Given the description of an element on the screen output the (x, y) to click on. 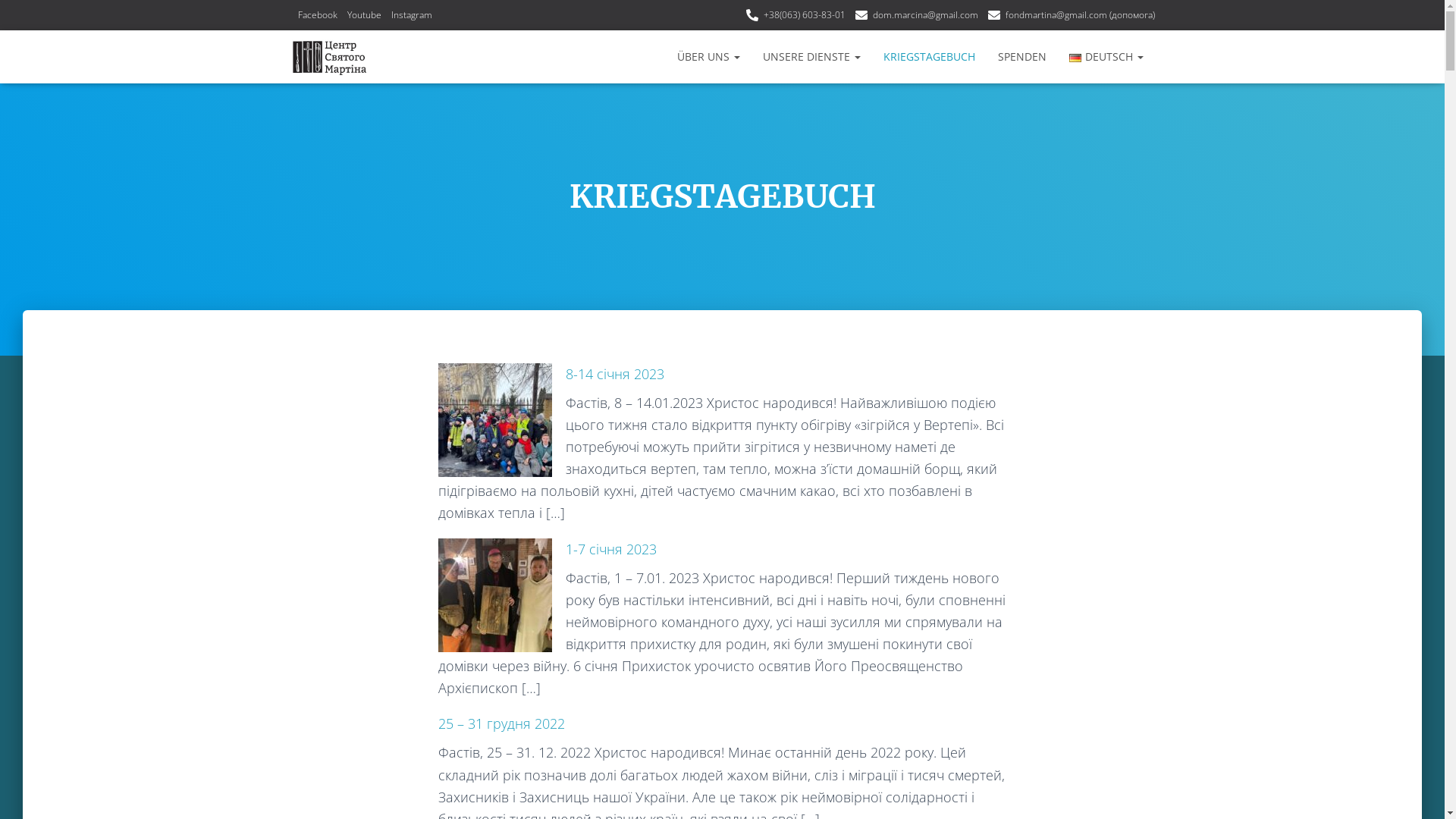
Youtube Element type: text (364, 14)
dom.marcina@gmail.com Element type: text (916, 15)
St. Martin's Zentrum in Fastiv Element type: hover (330, 56)
UNSERE DIENSTE Element type: text (811, 56)
SPENDEN Element type: text (1021, 56)
Facebook Element type: text (316, 14)
DEUTSCH Element type: text (1105, 56)
Instagram Element type: text (411, 14)
KRIEGSTAGEBUCH Element type: text (929, 56)
+38(063) 603-83-01 Element type: text (795, 15)
